Given the description of an element on the screen output the (x, y) to click on. 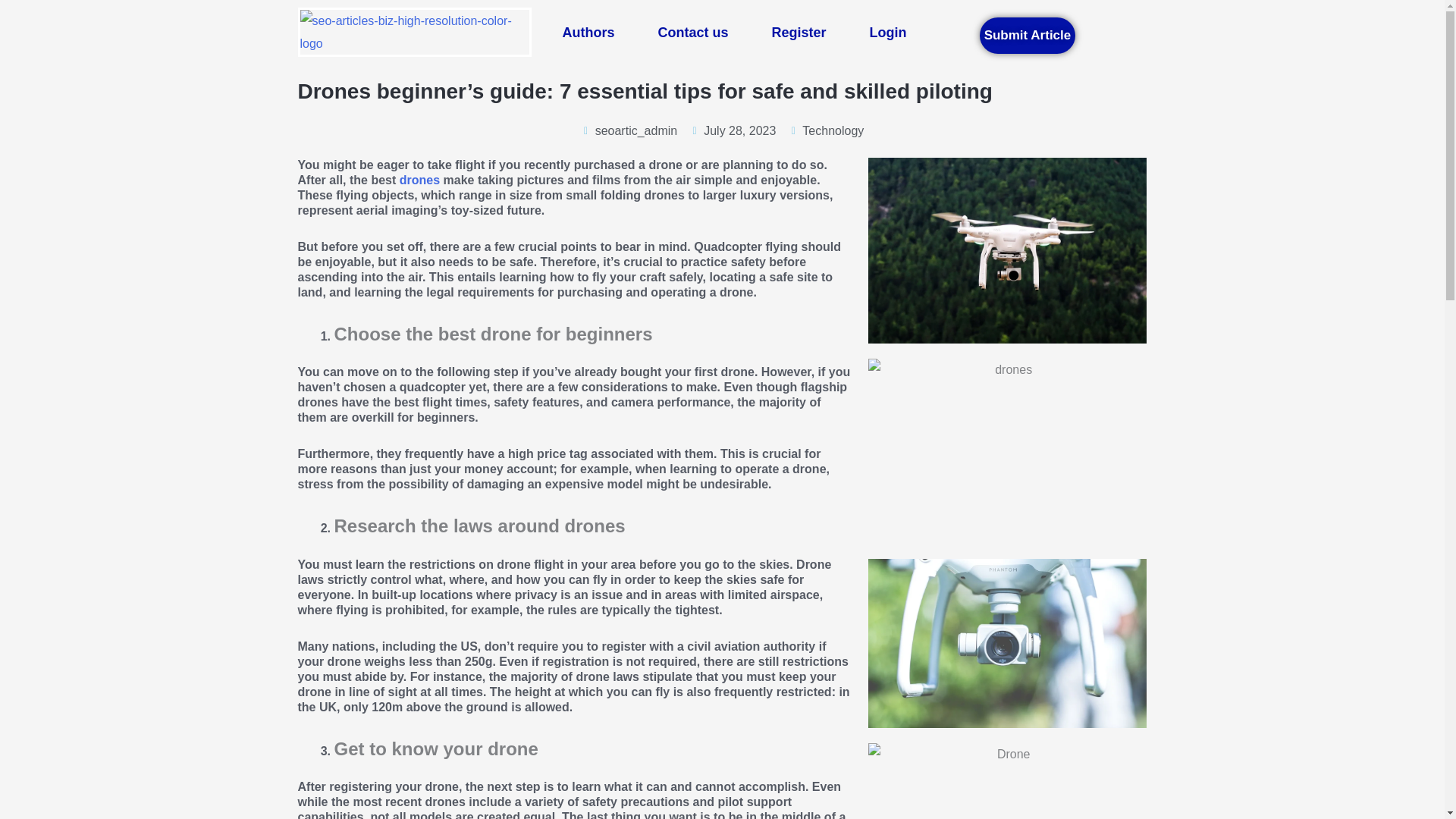
drones (418, 179)
seo-articles-biz-high-resolution-color-logo (414, 31)
July 28, 2023 (732, 130)
Register (798, 32)
Submit Article (1027, 35)
Technology (832, 130)
Authors (587, 32)
Contact us (692, 32)
Login (887, 32)
